Given the description of an element on the screen output the (x, y) to click on. 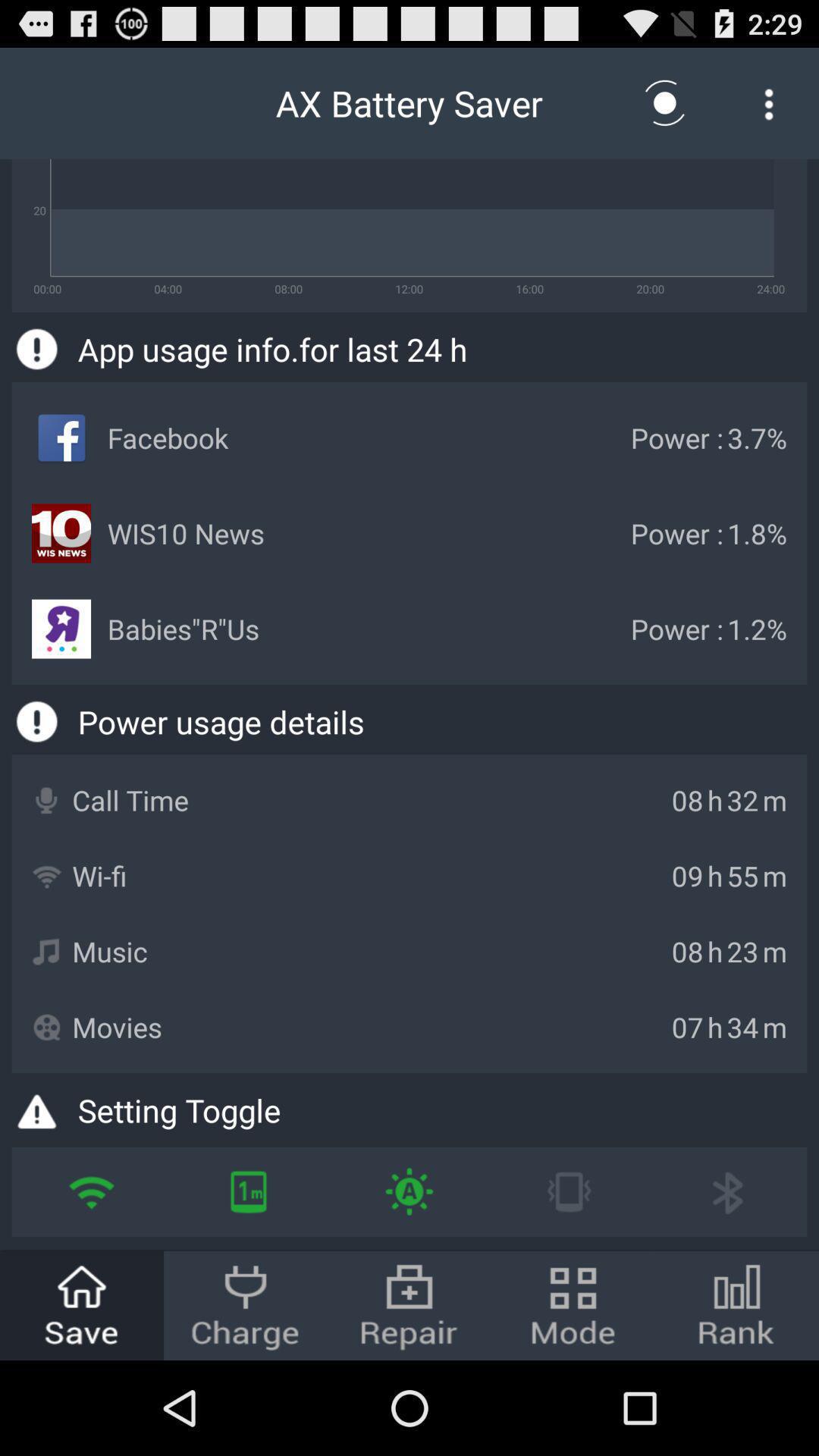
press the app below app usage info item (408, 1192)
